Given the description of an element on the screen output the (x, y) to click on. 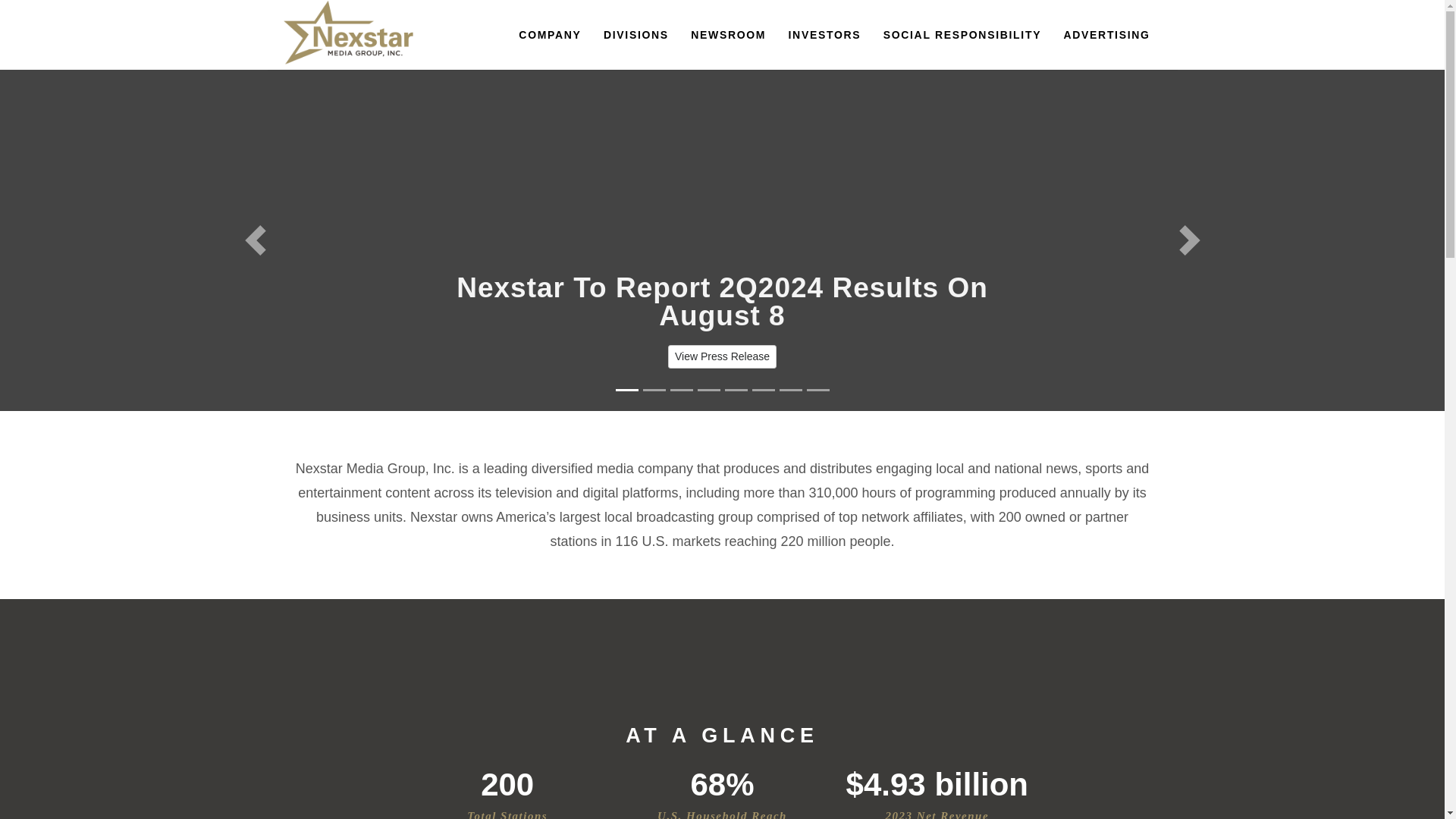
COMPANY (549, 53)
SOCIAL RESPONSIBILITY (962, 53)
DIVISIONS (636, 53)
INVESTORS (825, 53)
NEWSROOM (727, 53)
